Given the description of an element on the screen output the (x, y) to click on. 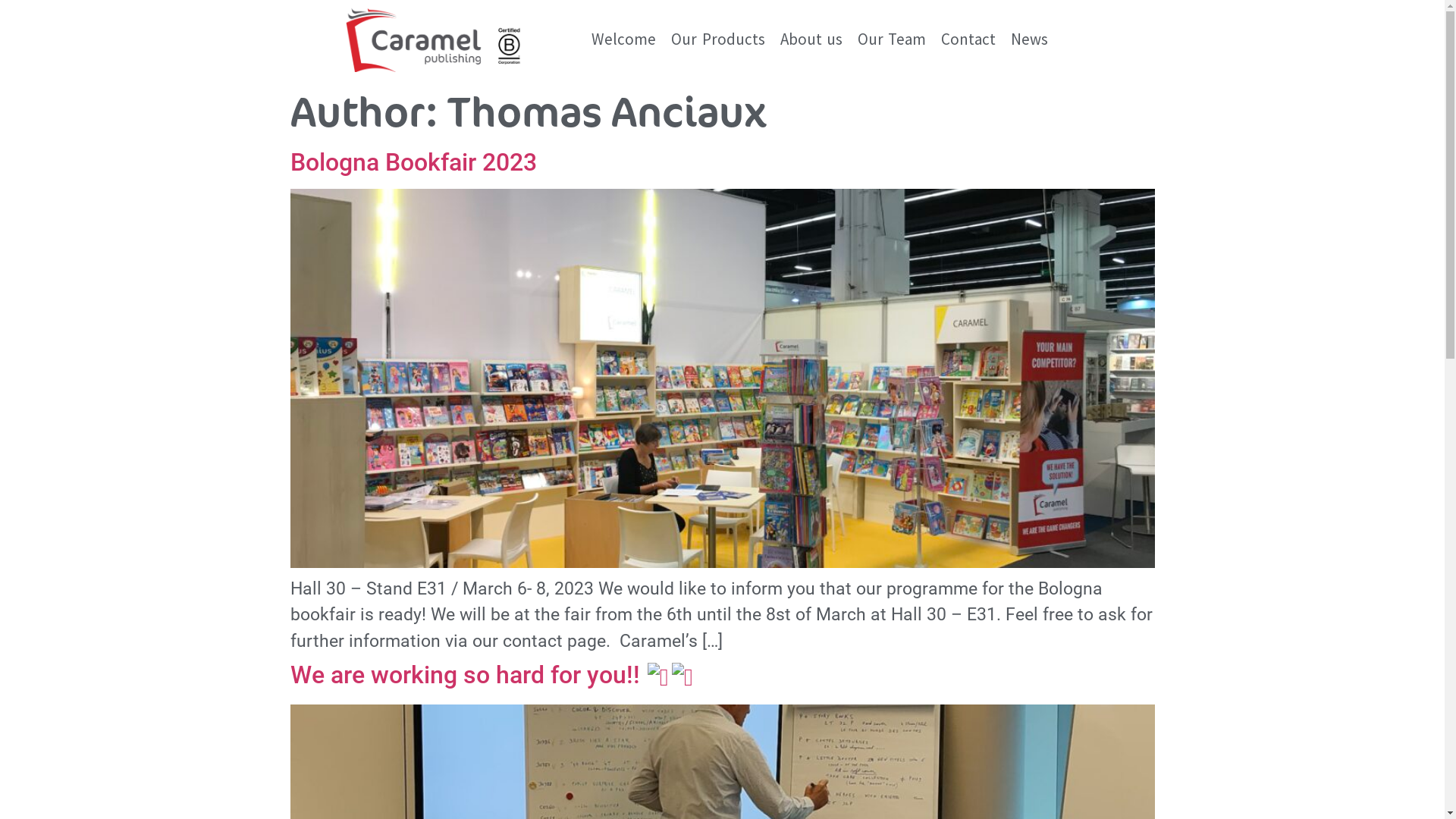
Our Team Element type: text (891, 39)
Our Products Element type: text (717, 39)
We are working so hard for you!! Element type: text (491, 674)
News Element type: text (1029, 39)
Welcome Element type: text (623, 39)
About us Element type: text (811, 39)
Bologna Bookfair 2023 Element type: text (412, 161)
Contact Element type: text (968, 39)
